Given the description of an element on the screen output the (x, y) to click on. 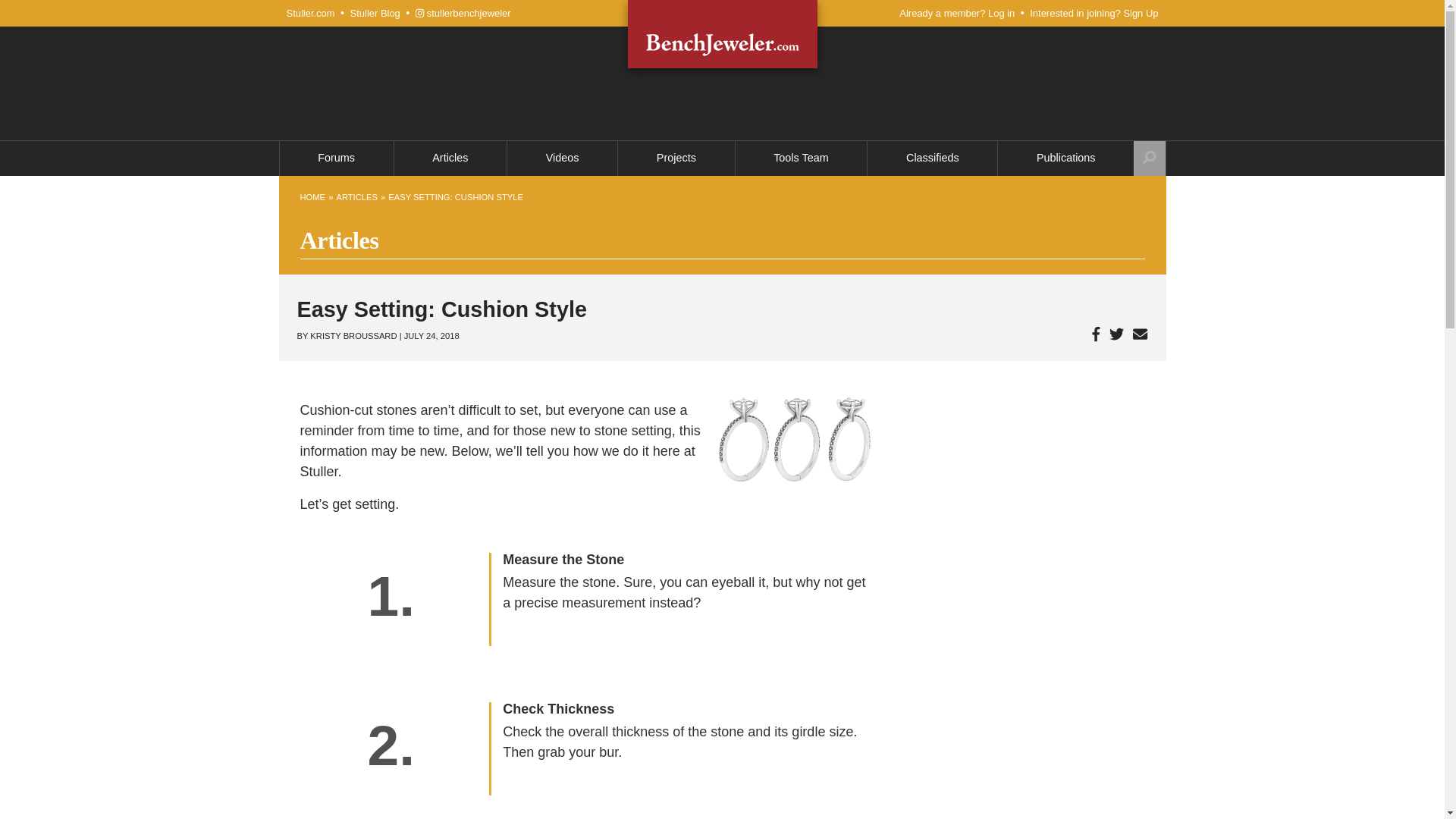
Twitter (1120, 334)
1. (390, 596)
KRISTY BROUSSARD (353, 335)
Interested in joining? Sign Up (1094, 13)
Forums (336, 158)
Videos (561, 158)
Classifieds (932, 158)
stullerbenchjeweler (462, 13)
HOME (312, 196)
Projects (675, 158)
